Given the description of an element on the screen output the (x, y) to click on. 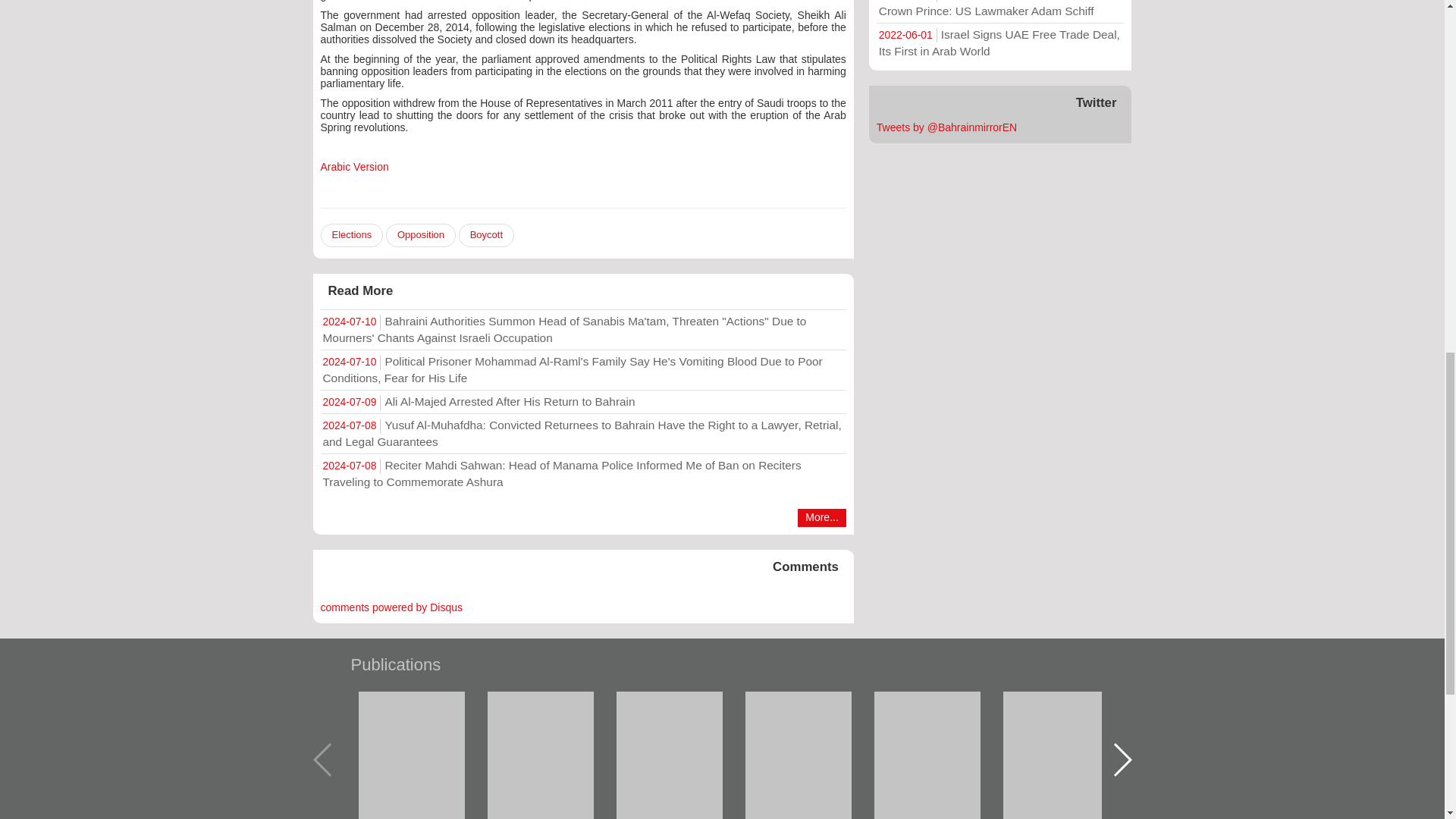
Arabic Version (354, 166)
Boycott (485, 235)
Elections (351, 235)
Opposition (420, 235)
